Given the description of an element on the screen output the (x, y) to click on. 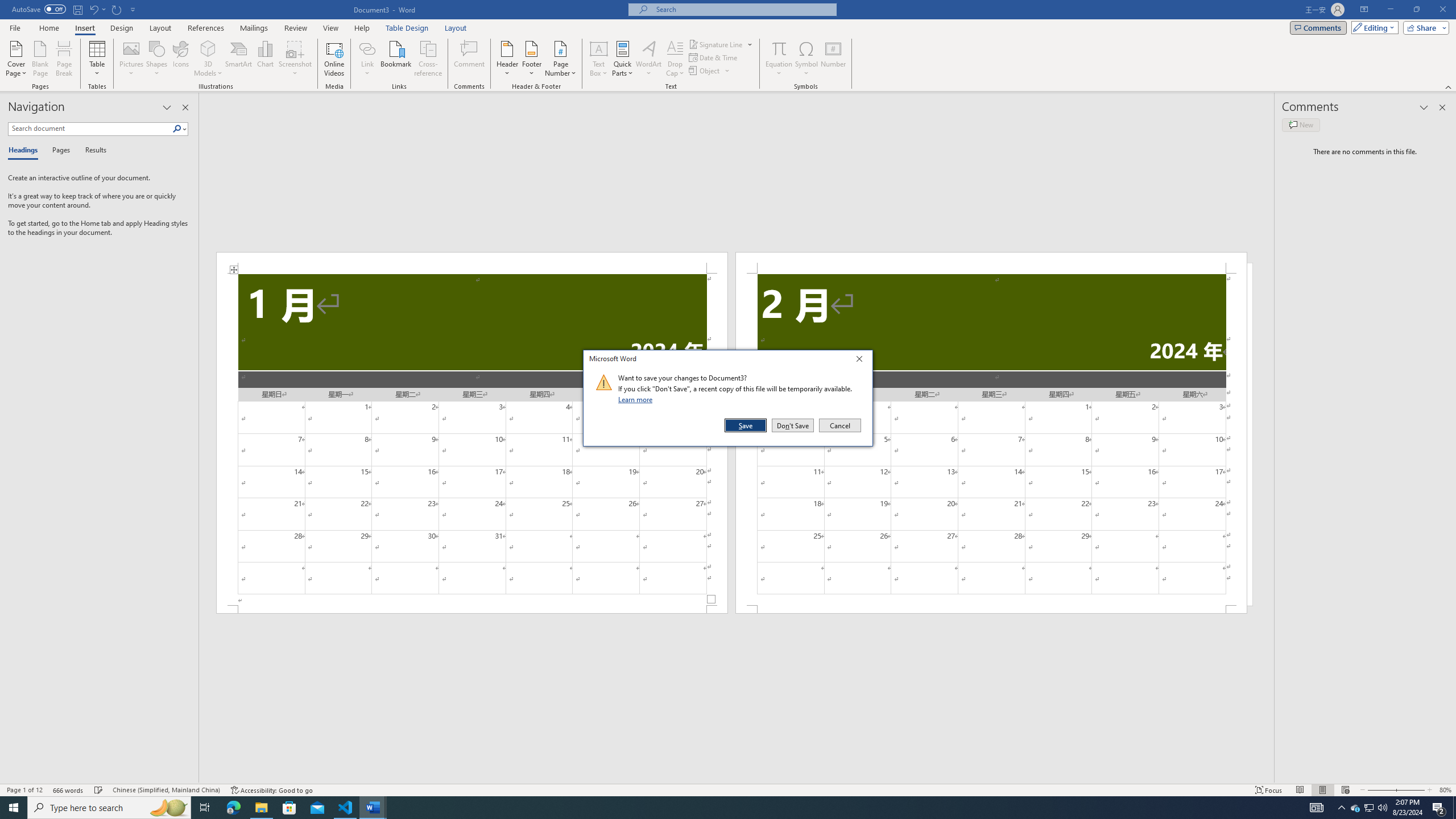
Cancel (839, 425)
Date & Time... (714, 56)
3D Models (208, 48)
New comment (1300, 124)
Don't Save (792, 425)
Equation (778, 48)
Equation (778, 58)
AutomationID: 4105 (1316, 807)
